Given the description of an element on the screen output the (x, y) to click on. 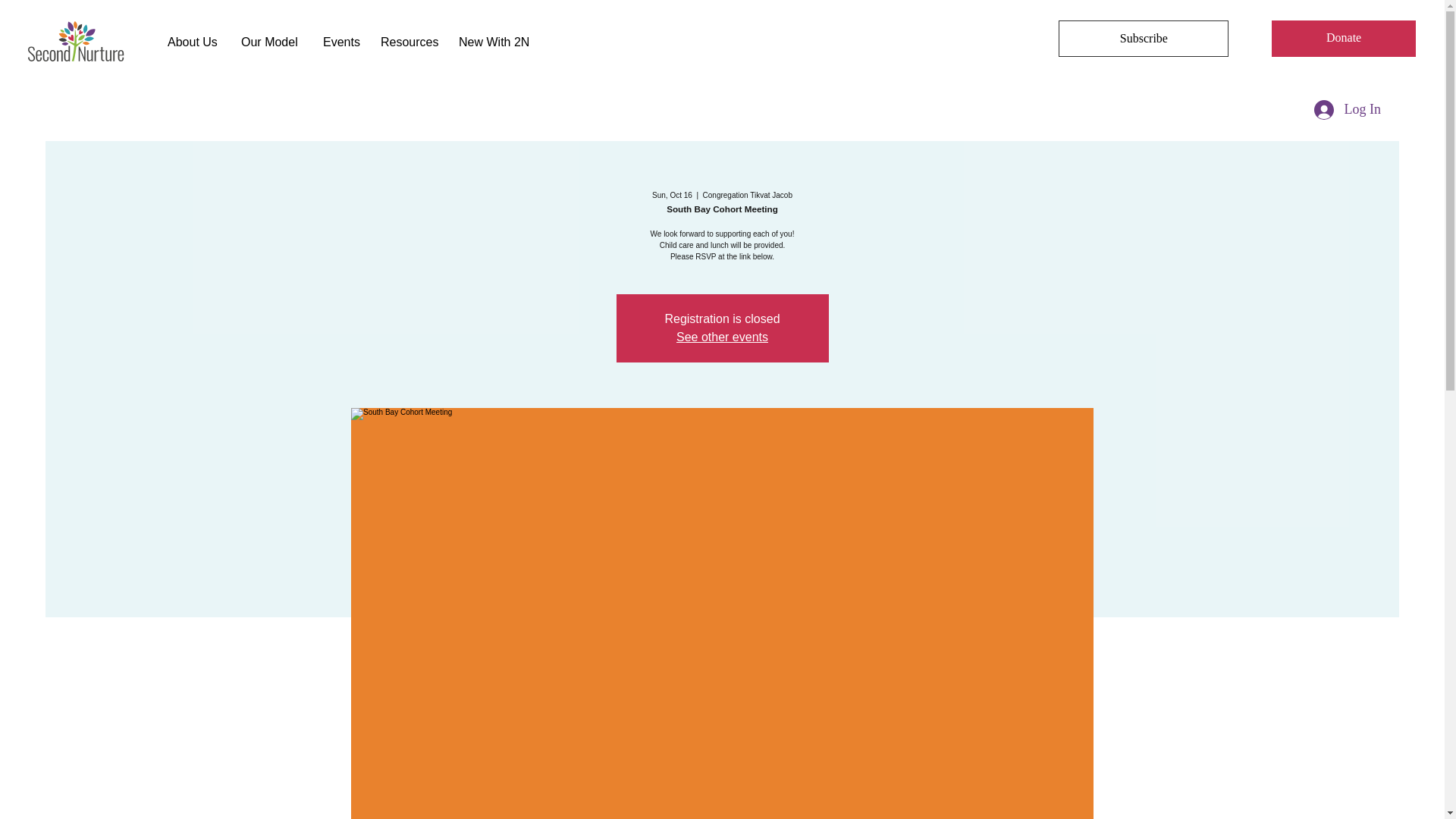
Our Model (270, 42)
Log In (1347, 109)
Events (340, 42)
Resources (407, 42)
About Us (192, 42)
Donate (1343, 38)
Subscribe (1143, 38)
See other events (722, 336)
